Given the description of an element on the screen output the (x, y) to click on. 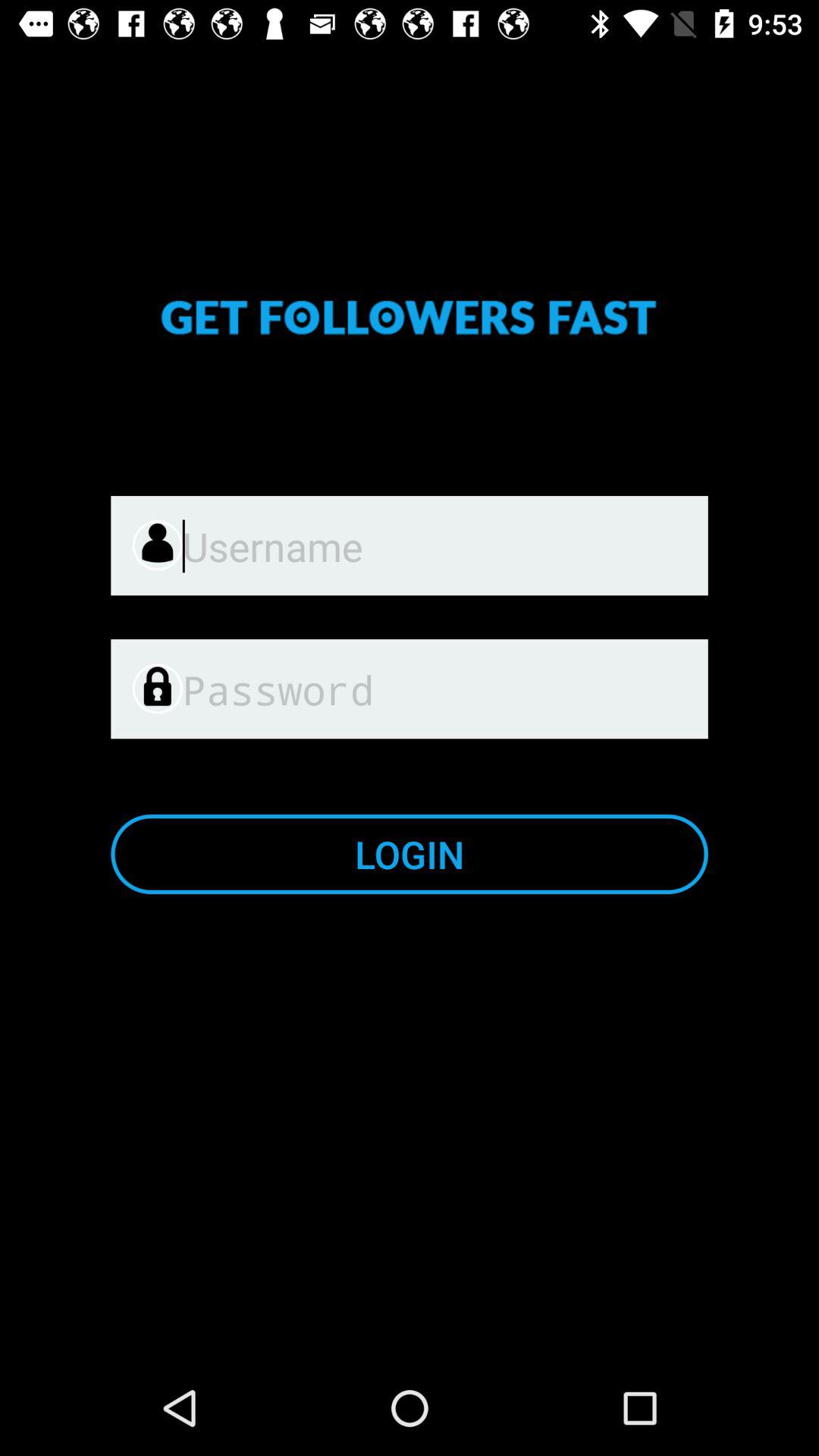
click item above login (441, 689)
